Given the description of an element on the screen output the (x, y) to click on. 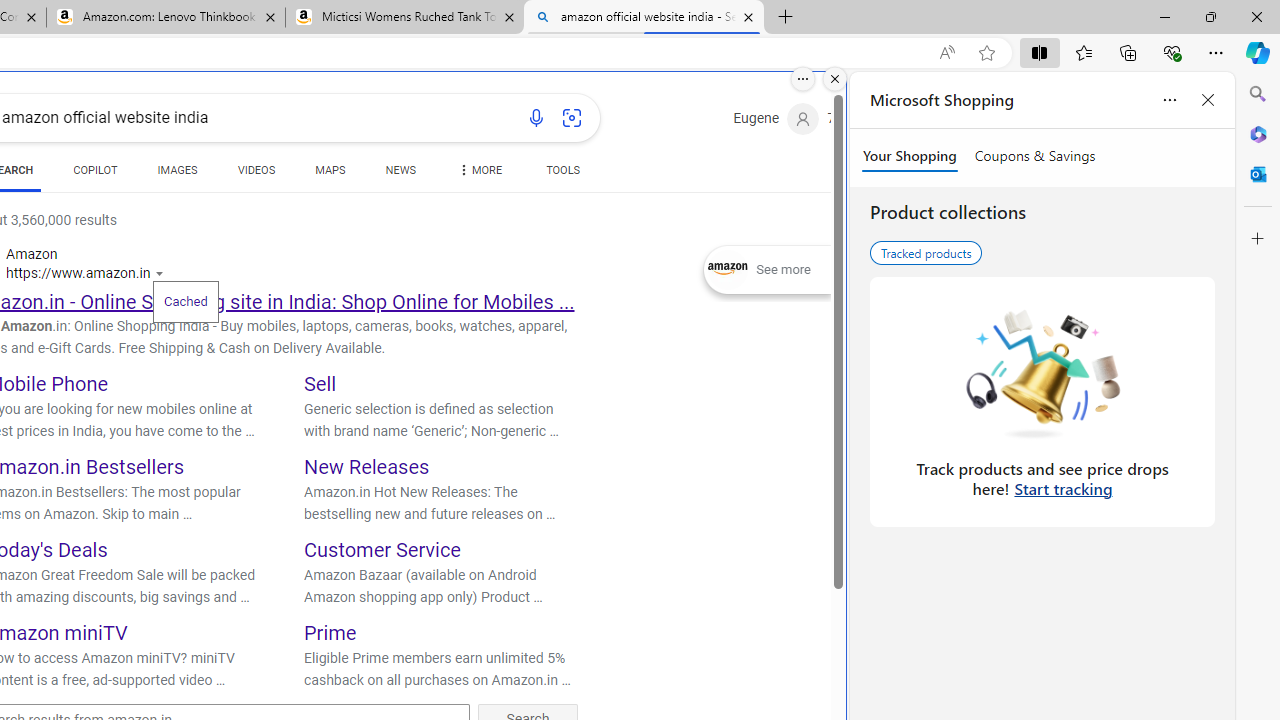
MORE (478, 173)
Restore (1210, 16)
Microsoft Rewards 72 (856, 119)
Settings and more (Alt+F) (1215, 52)
Cached (185, 300)
Split screen (1039, 52)
Search (1258, 94)
Customize (1258, 239)
Browser essentials (1171, 52)
Read aloud this page (Ctrl+Shift+U) (946, 53)
TOOLS (562, 170)
Sell (320, 384)
MAPS (330, 170)
IMAGES (177, 173)
Expand See more (767, 269)
